Given the description of an element on the screen output the (x, y) to click on. 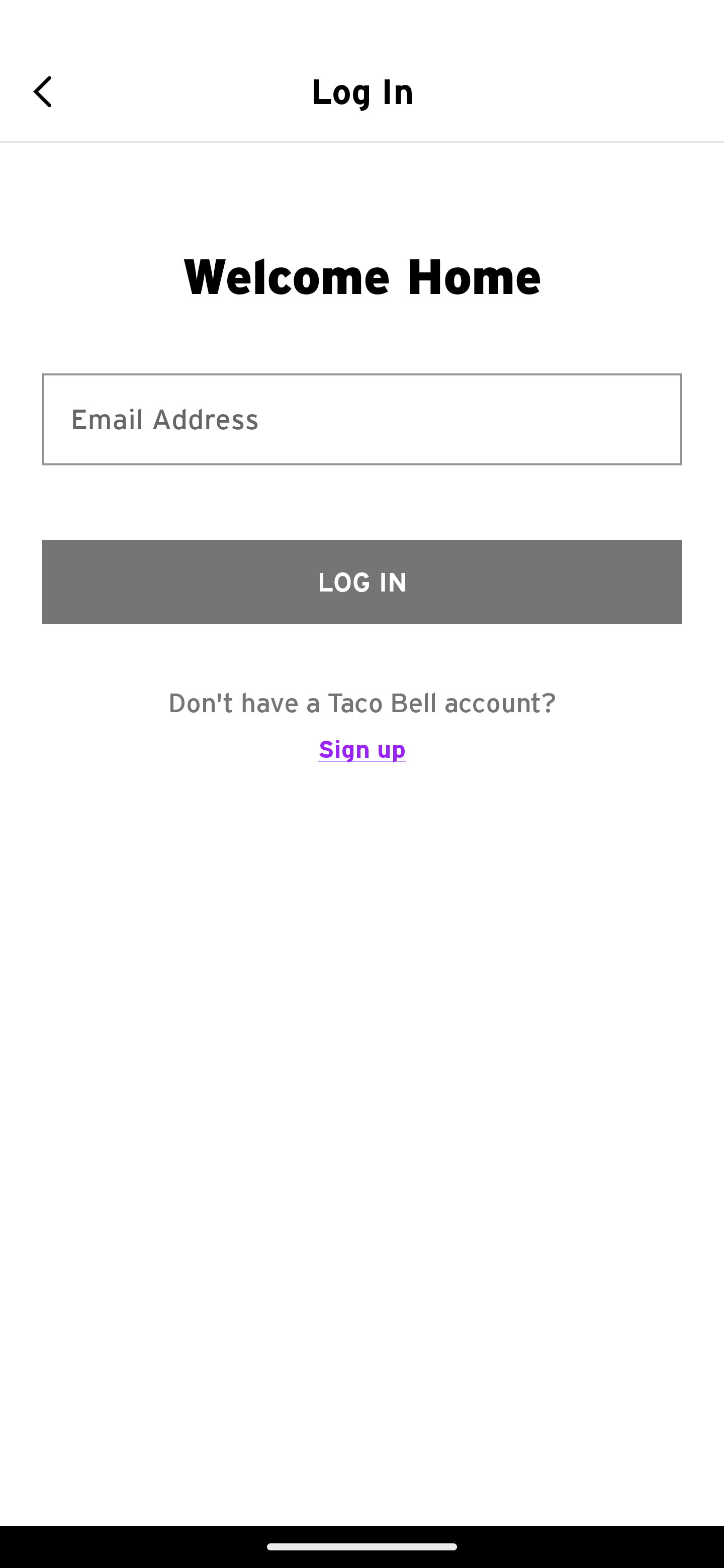
Navigate up (49, 91)
Email Address (361, 419)
LOG IN (361, 581)
Sign up (361, 757)
